Given the description of an element on the screen output the (x, y) to click on. 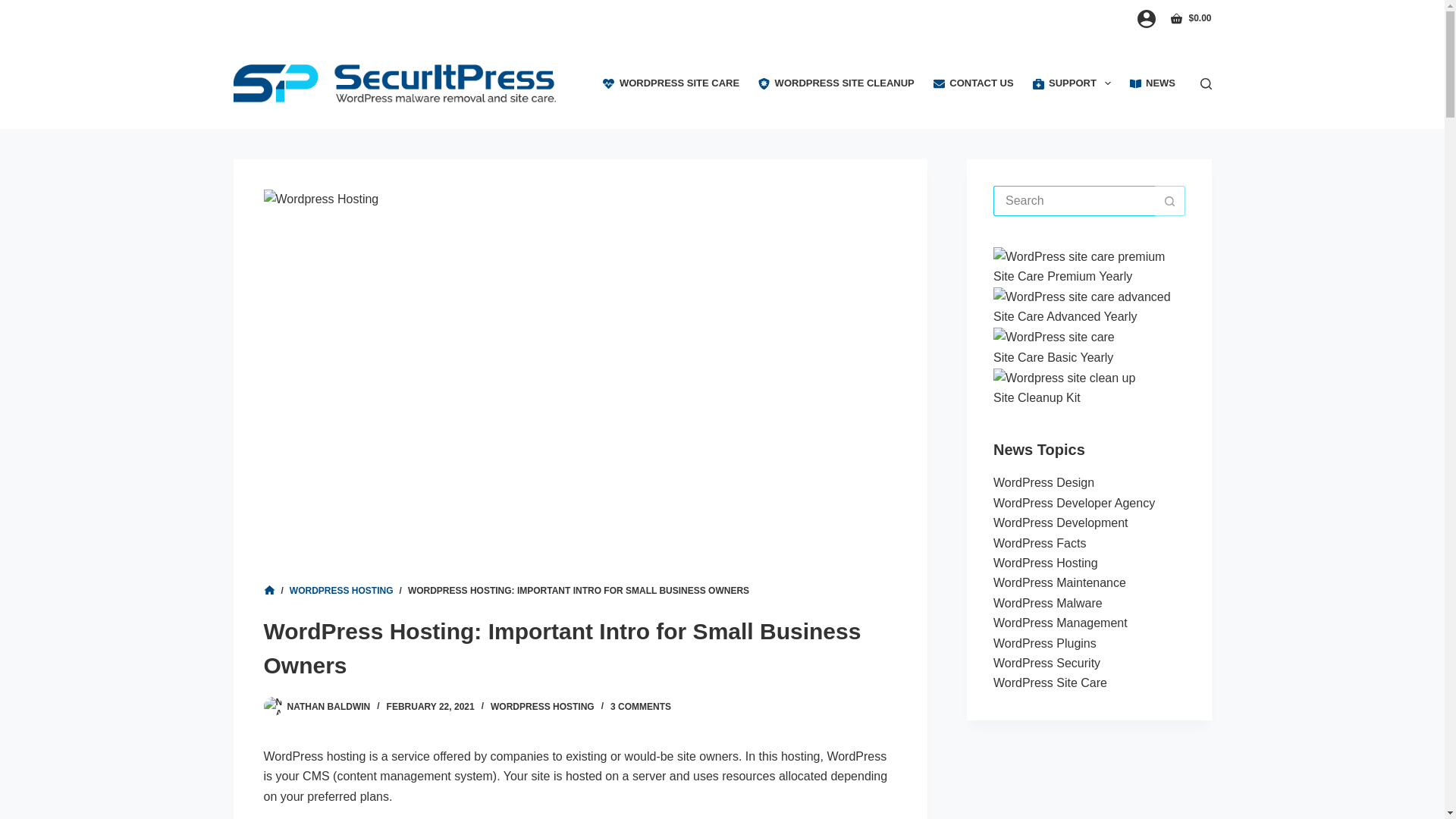
SUPPORT (1071, 82)
Skip to content (15, 7)
CONTACT US (973, 82)
Search for... (1073, 200)
Posts by Nathan Baldwin (327, 706)
WordPress Hosting: Important Intro for Small Business Owners (580, 648)
WORDPRESS SITE CARE (671, 82)
WORDPRESS SITE CLEANUP (836, 82)
